Given the description of an element on the screen output the (x, y) to click on. 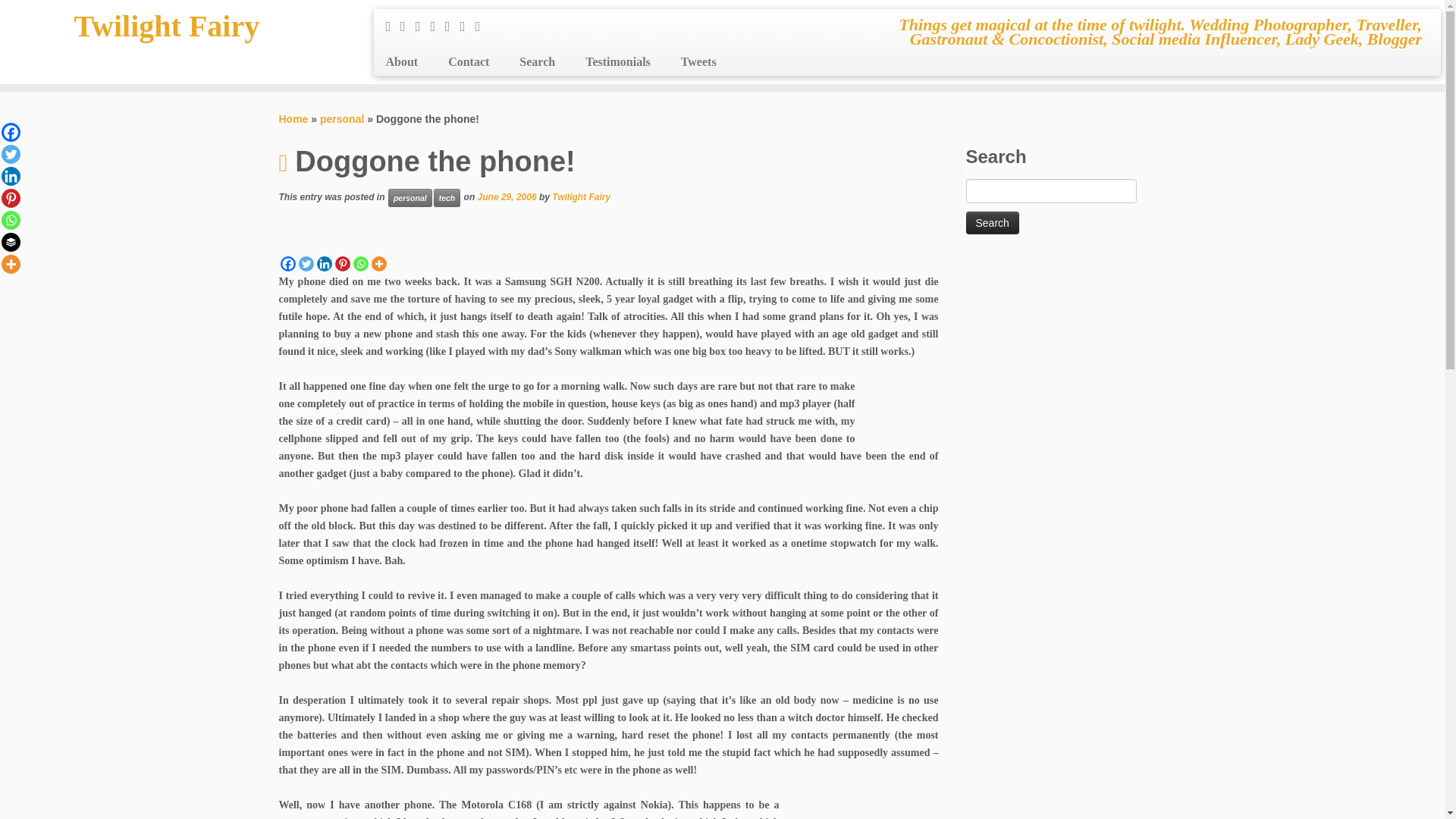
View all posts in personal (410, 198)
Search (536, 62)
Follow me on Youtube (468, 26)
Contact (467, 62)
3:55 am (507, 196)
Follow me on Twitter (407, 26)
Twilight Fairy (166, 26)
Twilight Fairy (293, 119)
Testimonials (617, 62)
Search (992, 222)
Follow me on Facebook (422, 26)
June 29, 2006 (507, 196)
Twilight Fairy (580, 196)
personal (410, 198)
Tweets (690, 62)
